Given the description of an element on the screen output the (x, y) to click on. 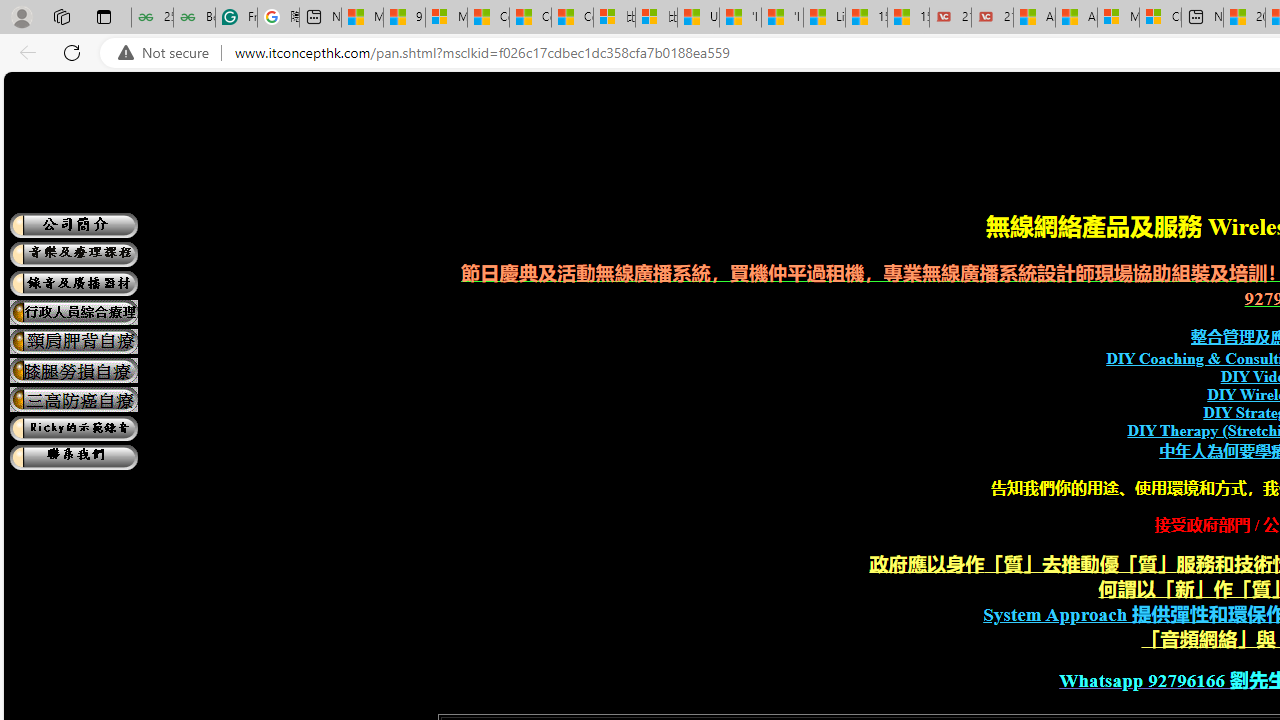
20 Ways to Boost Your Protein Intake at Every Meal (1243, 17)
Not secure (168, 53)
USA TODAY - MSN (698, 17)
21 Movies That Outdid the Books They Were Based On (991, 17)
25 Basic Linux Commands For Beginners - GeeksforGeeks (151, 17)
